Given the description of an element on the screen output the (x, y) to click on. 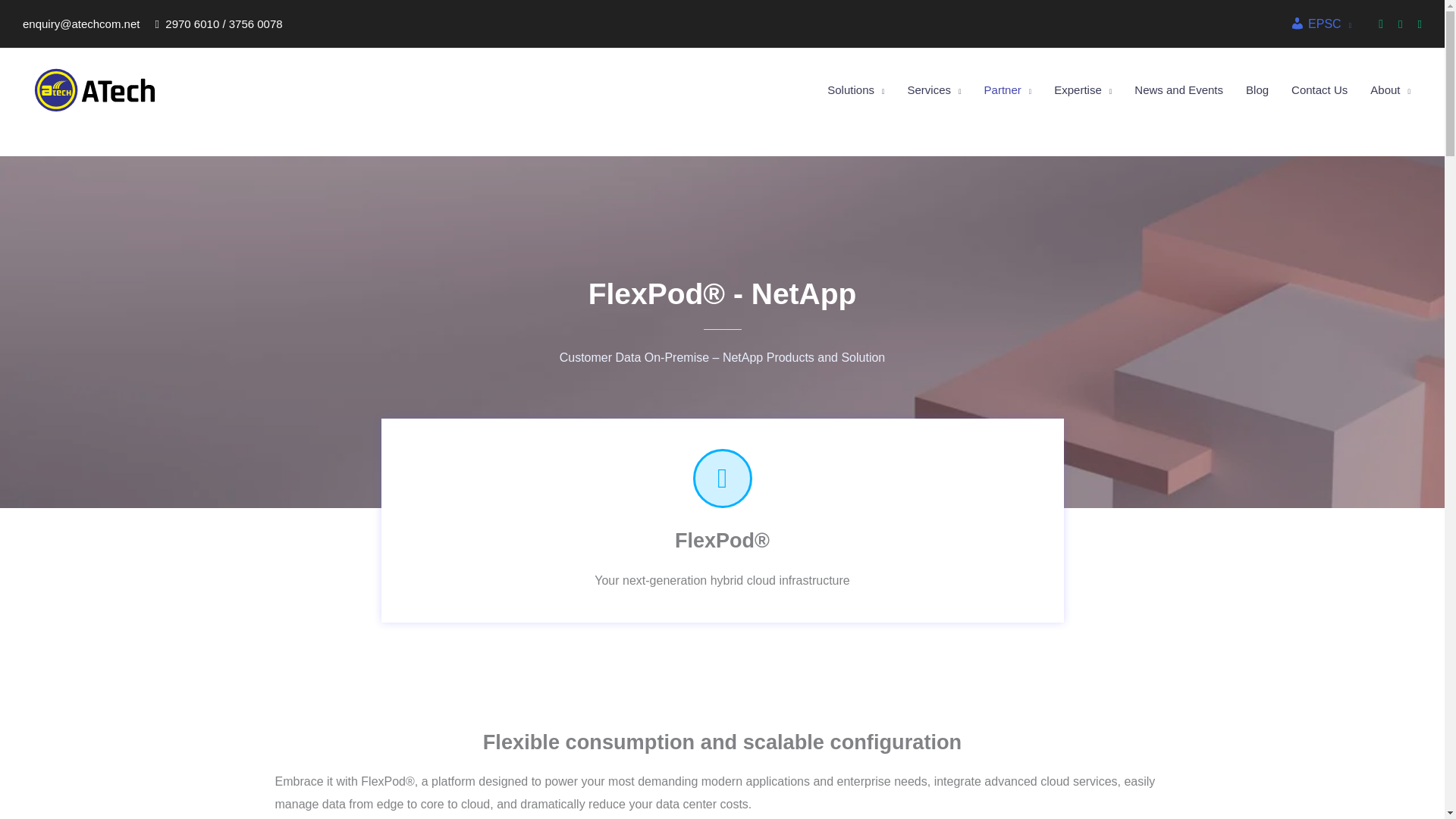
Services (934, 89)
Solutions (855, 89)
EPSC (1320, 23)
Partner (1007, 89)
